Given the description of an element on the screen output the (x, y) to click on. 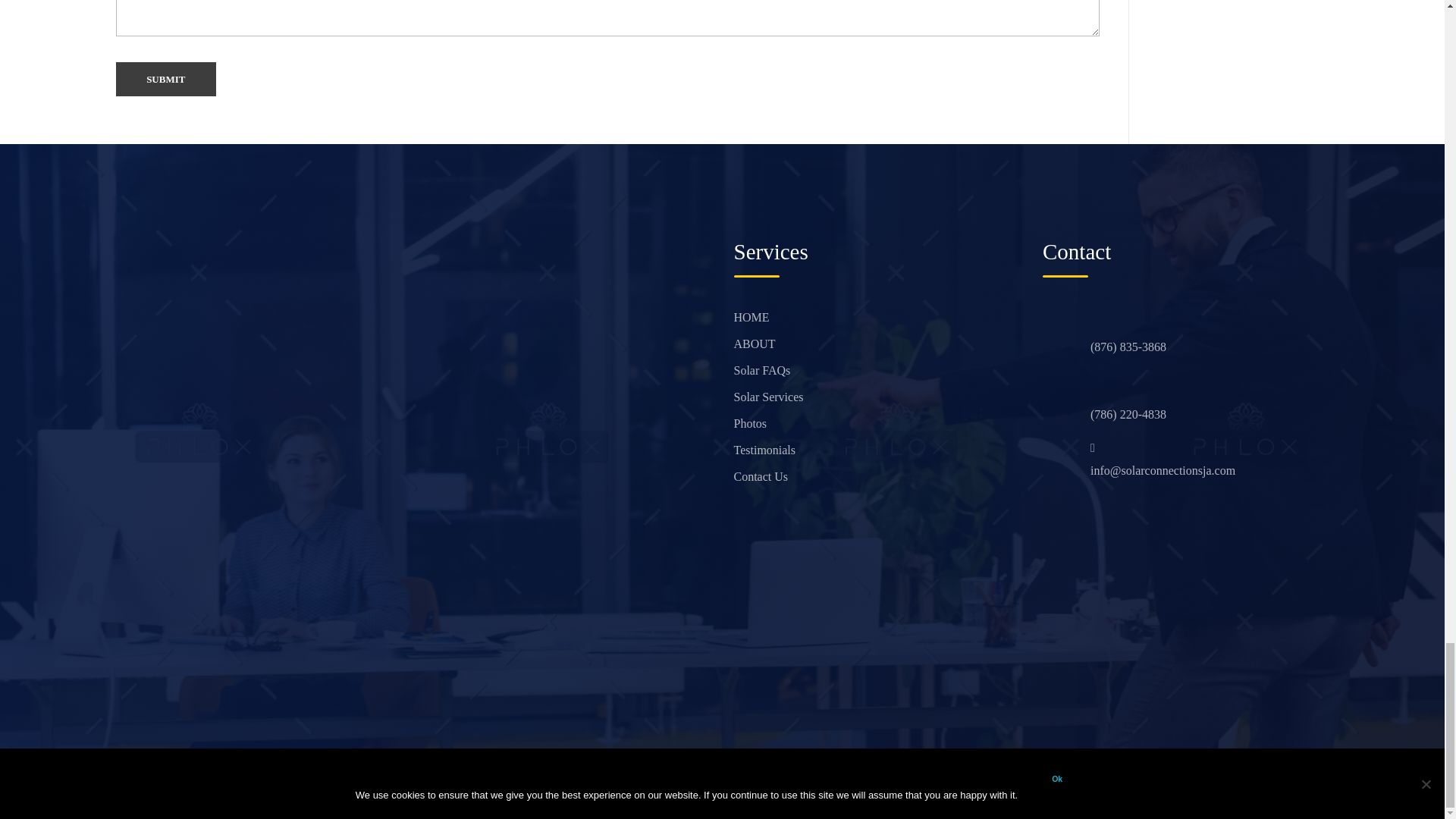
Submit (165, 79)
Submit (165, 79)
